Given the description of an element on the screen output the (x, y) to click on. 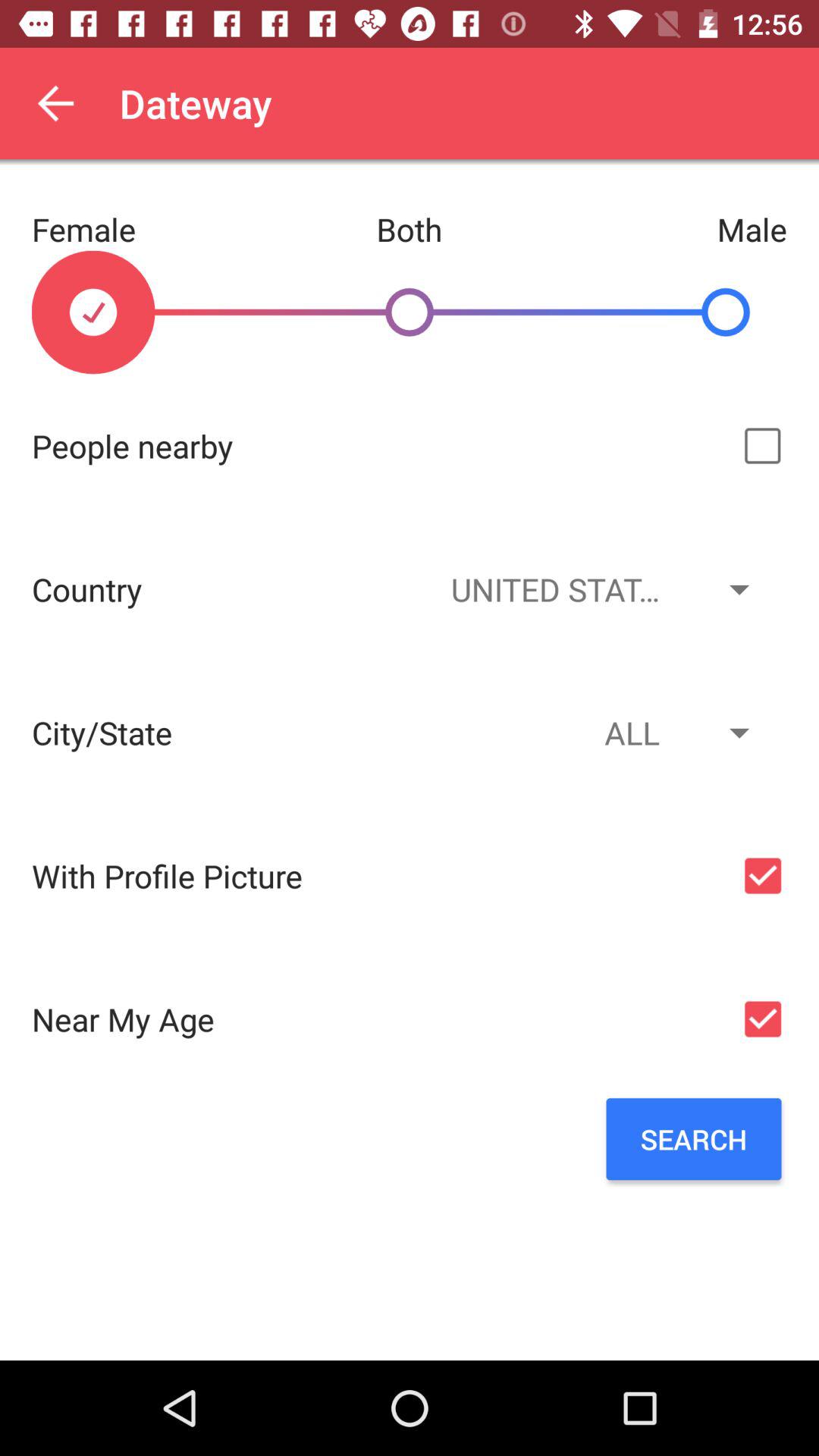
press the item next to dateway app (55, 103)
